Given the description of an element on the screen output the (x, y) to click on. 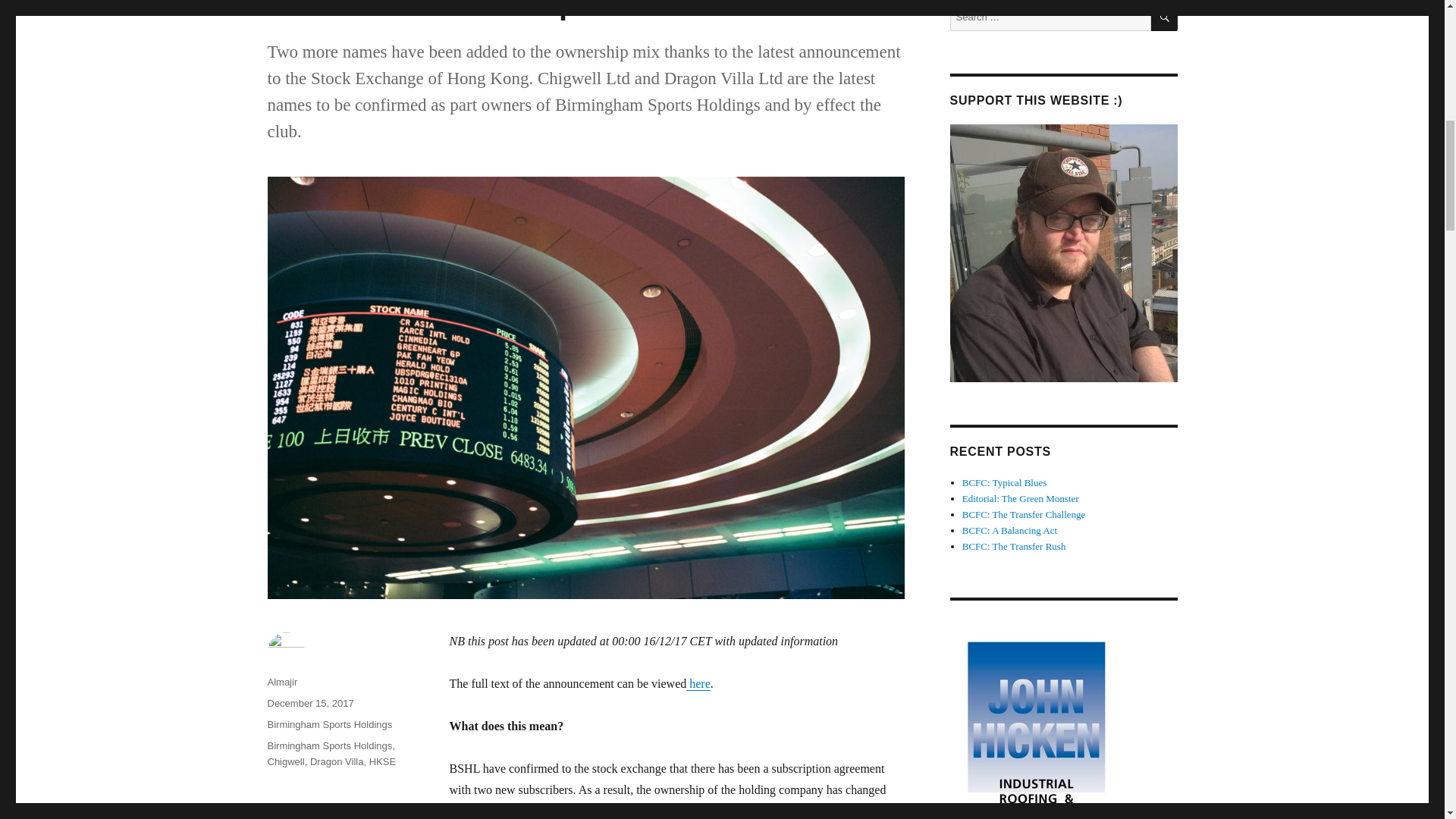
HKSE (382, 761)
Dragon Villa (337, 761)
Birmingham Sports Holdings (328, 745)
Birmingham Sports Holdings (328, 724)
Almajir (281, 681)
December 15, 2017 (309, 703)
here (697, 683)
Chigwell (285, 761)
